Given the description of an element on the screen output the (x, y) to click on. 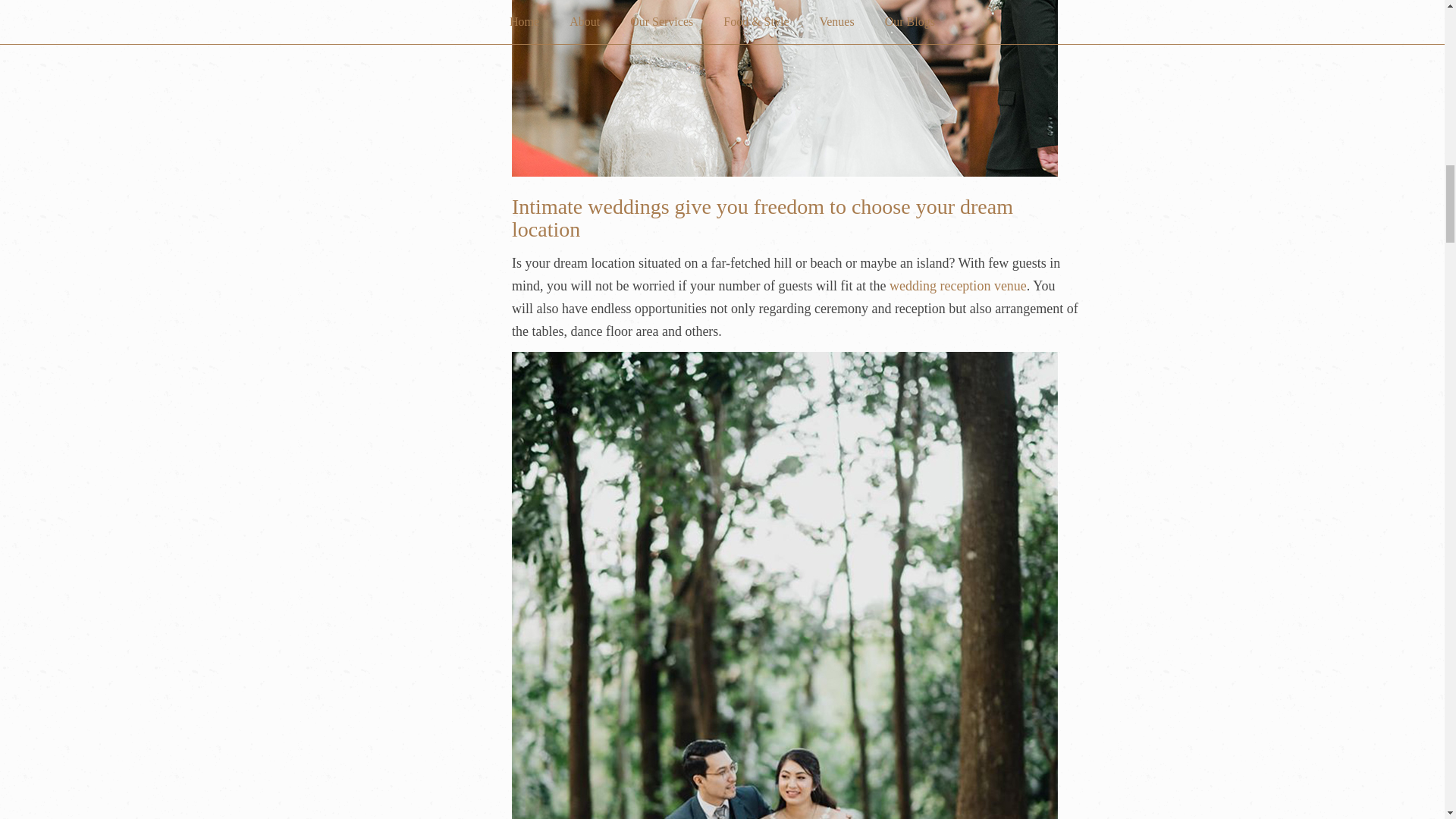
wedding reception venue (957, 285)
